Given the description of an element on the screen output the (x, y) to click on. 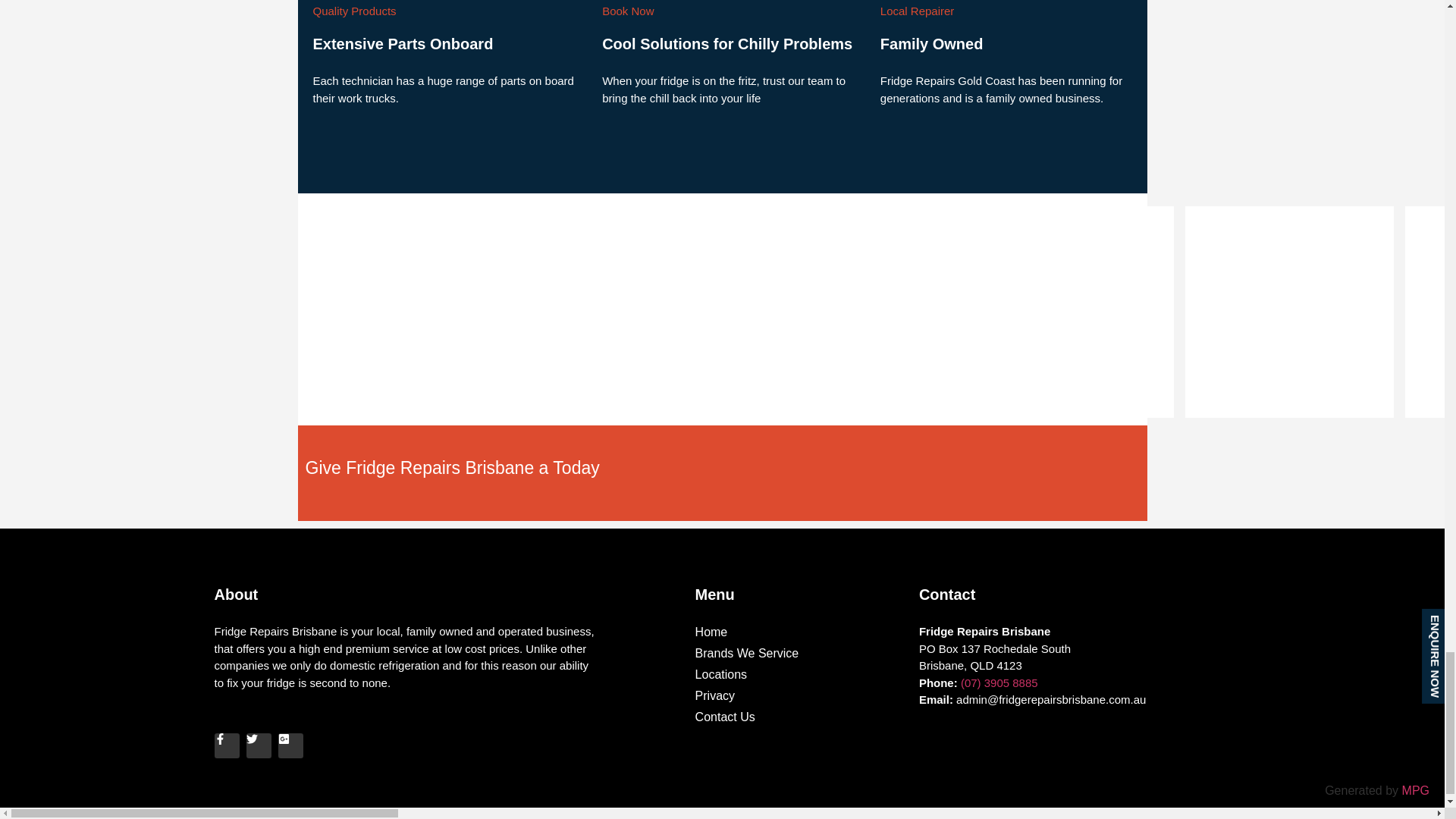
List Title (1430, 311)
